Given the description of an element on the screen output the (x, y) to click on. 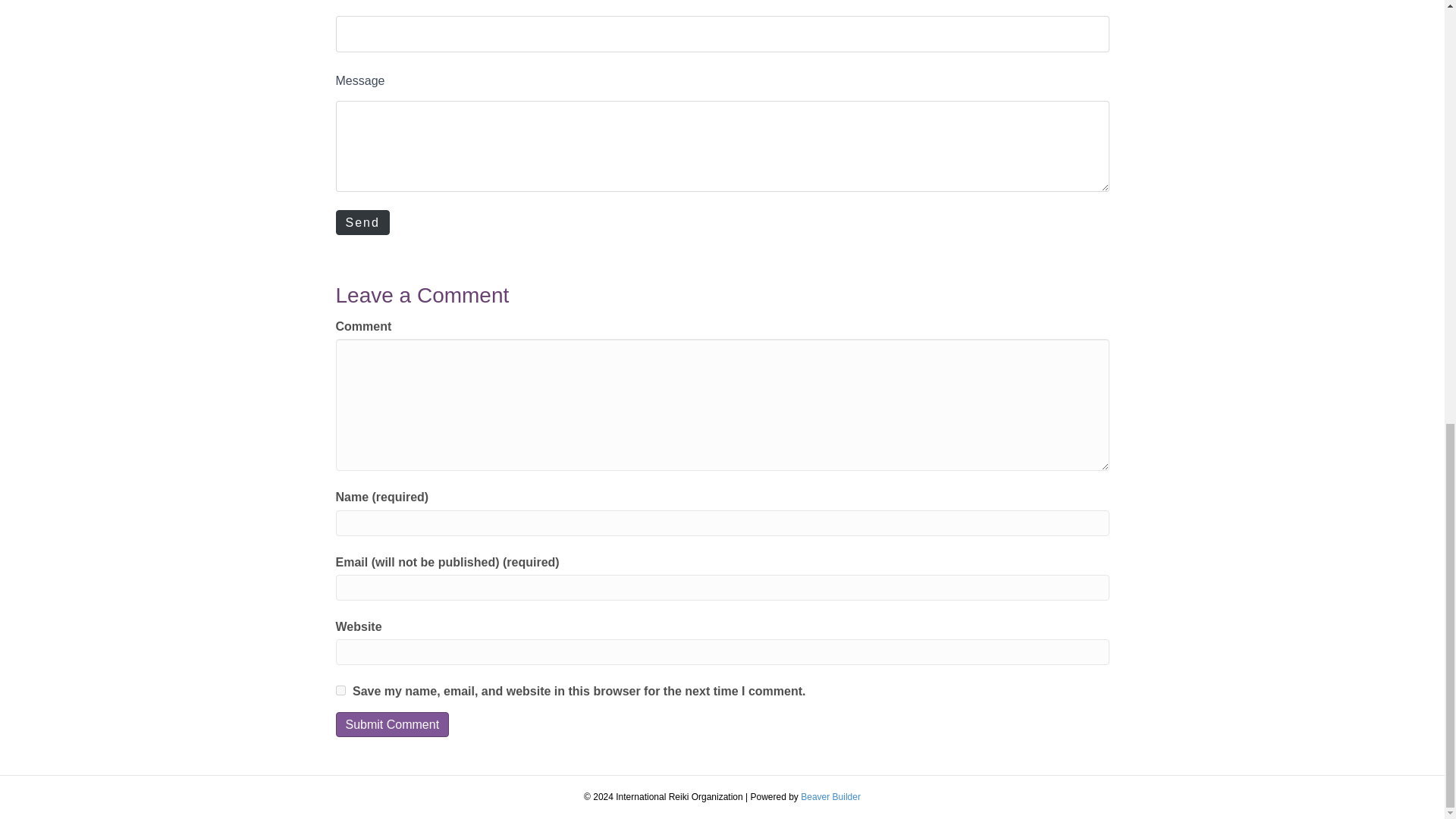
Submit Comment (391, 724)
Send (361, 222)
WordPress Page Builder Plugin (830, 796)
Submit Comment (391, 724)
Send (361, 222)
yes (339, 690)
Beaver Builder (830, 796)
